Given the description of an element on the screen output the (x, y) to click on. 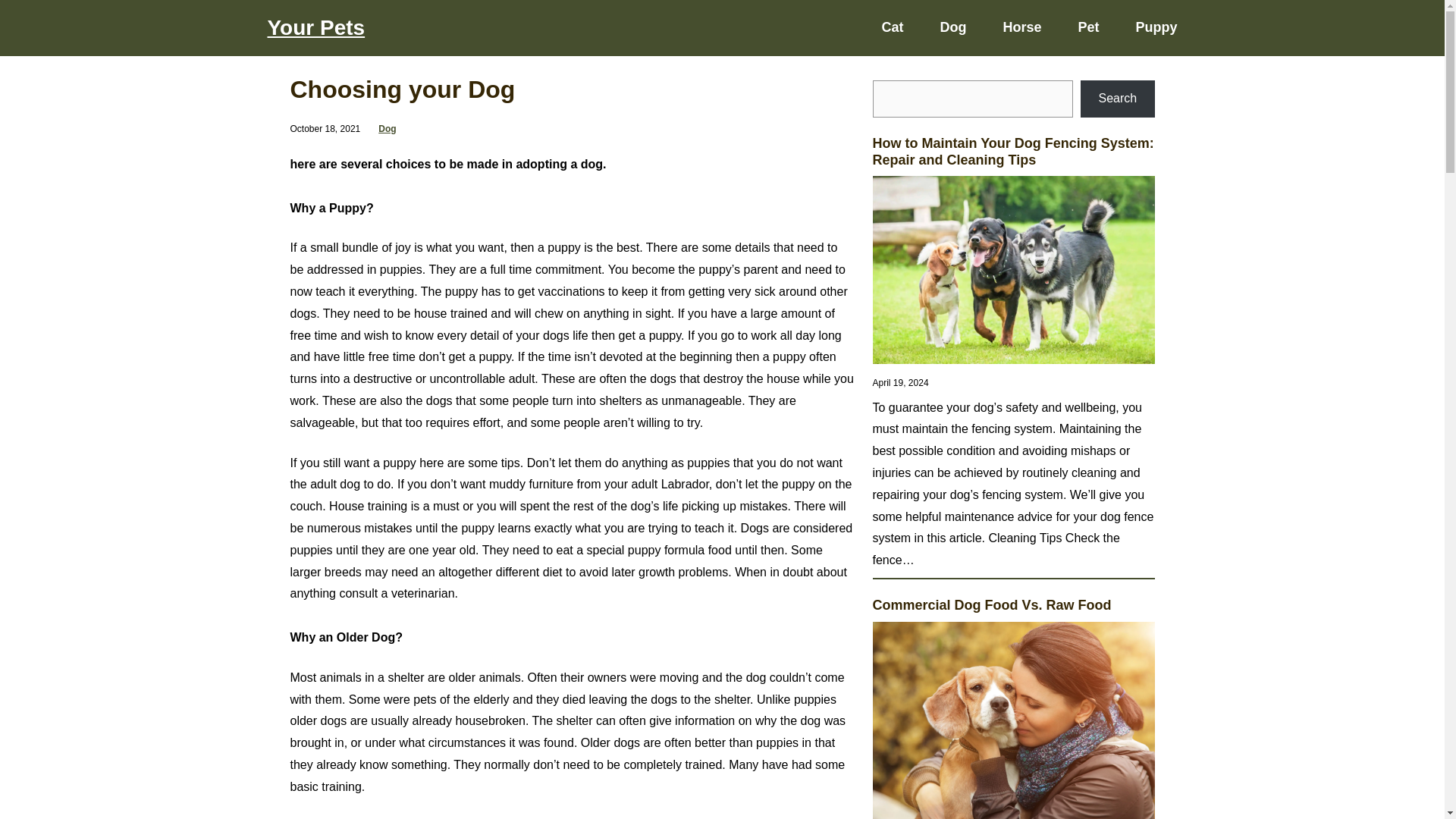
Dog (387, 128)
Puppy (1155, 27)
Your Pets (315, 27)
Horse (1022, 27)
Commercial Dog Food Vs. Raw Food (991, 605)
Dog (952, 27)
Pet (1088, 27)
Search (1117, 98)
Cat (891, 27)
